Given the description of an element on the screen output the (x, y) to click on. 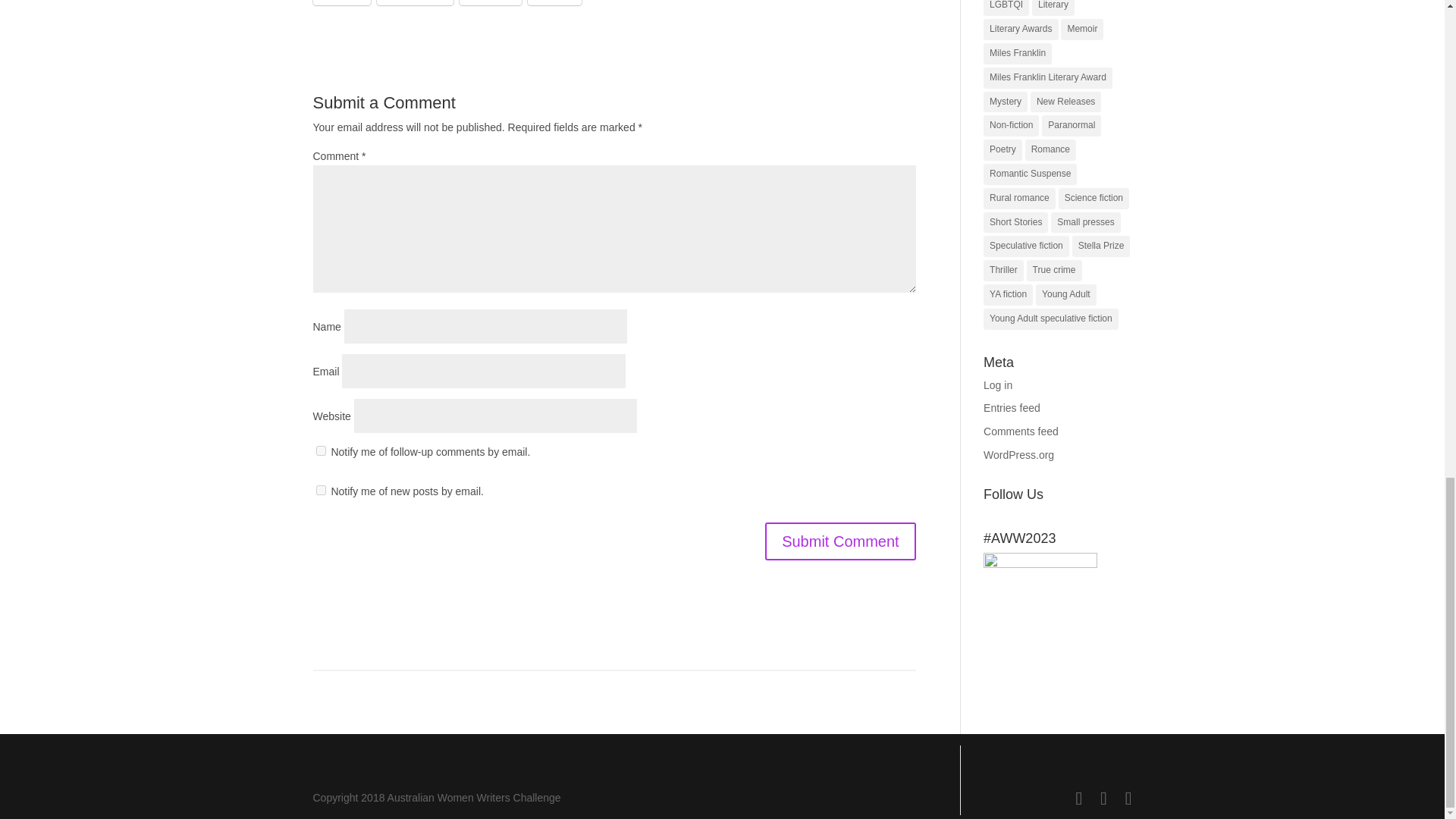
Print (553, 2)
Click to print (553, 2)
Submit Comment (840, 541)
Click to share on Twitter (490, 2)
Facebook (414, 2)
Email (342, 2)
Twitter (490, 2)
subscribe (319, 490)
Click to email a link to a friend (342, 2)
Click to share on Facebook (414, 2)
